Given the description of an element on the screen output the (x, y) to click on. 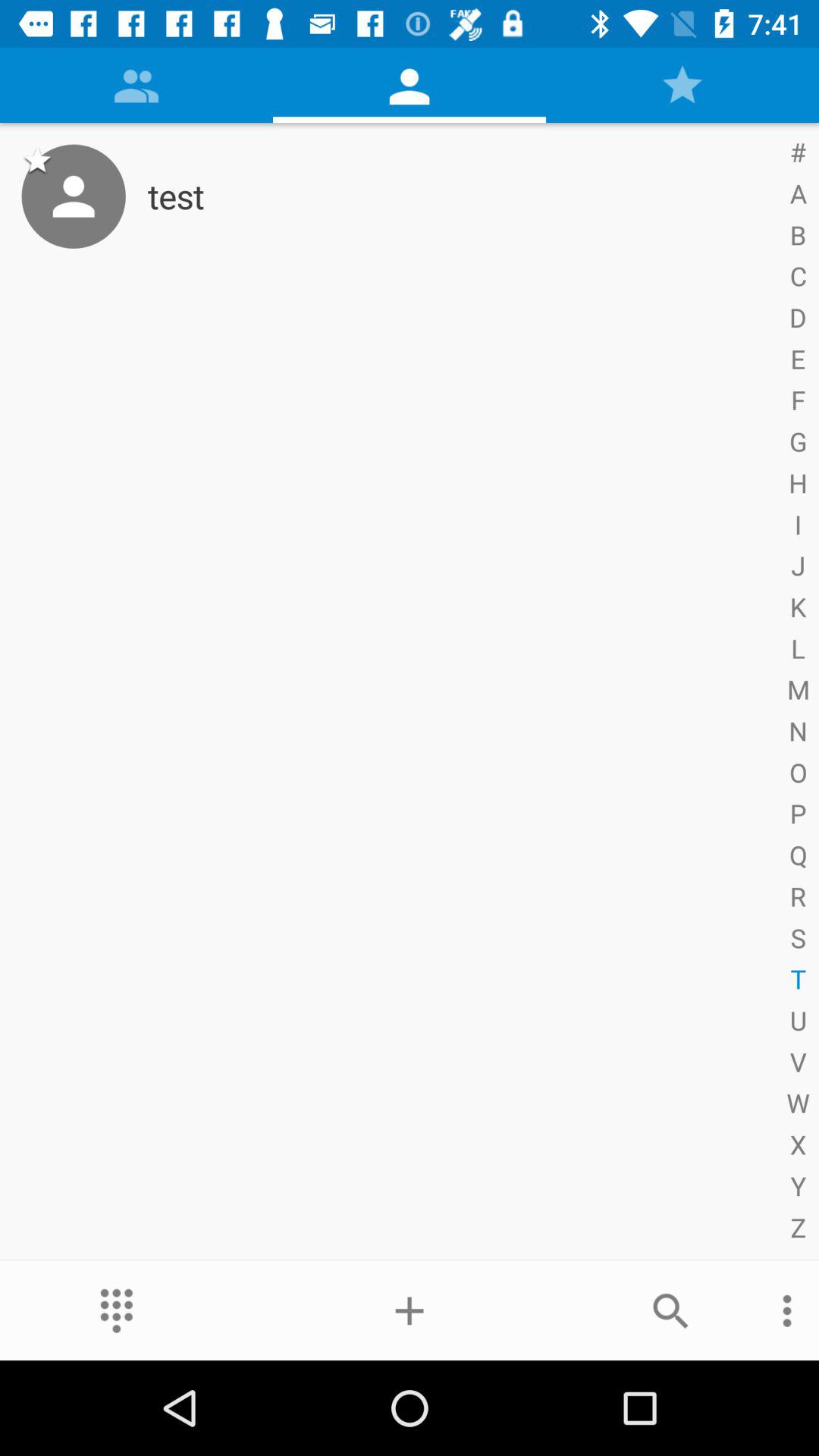
turn on icon to the left of test item (73, 196)
